Given the description of an element on the screen output the (x, y) to click on. 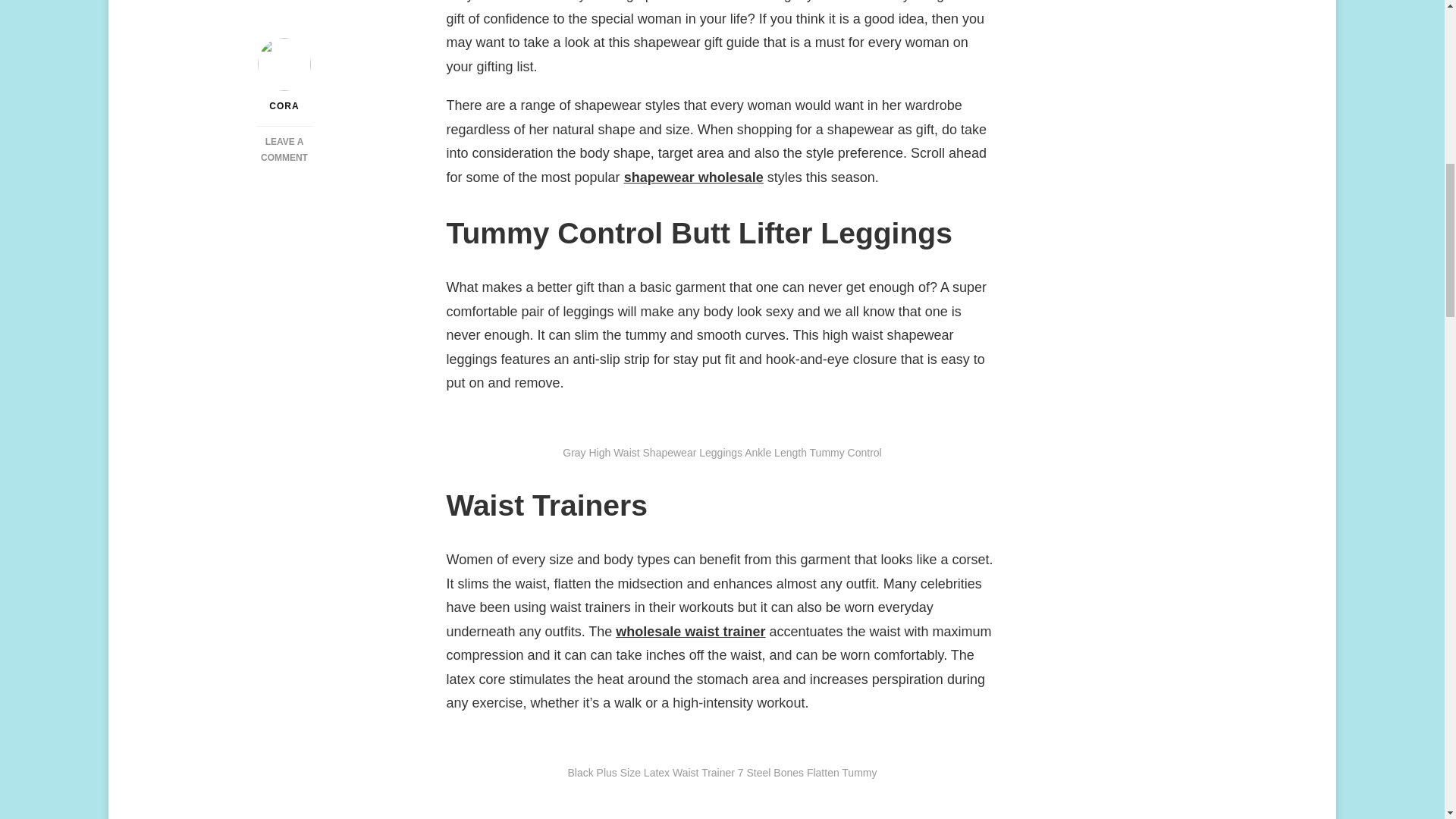
shapewear wholesale (283, 94)
CORA (693, 177)
wholesale waist trainer (284, 29)
